Given the description of an element on the screen output the (x, y) to click on. 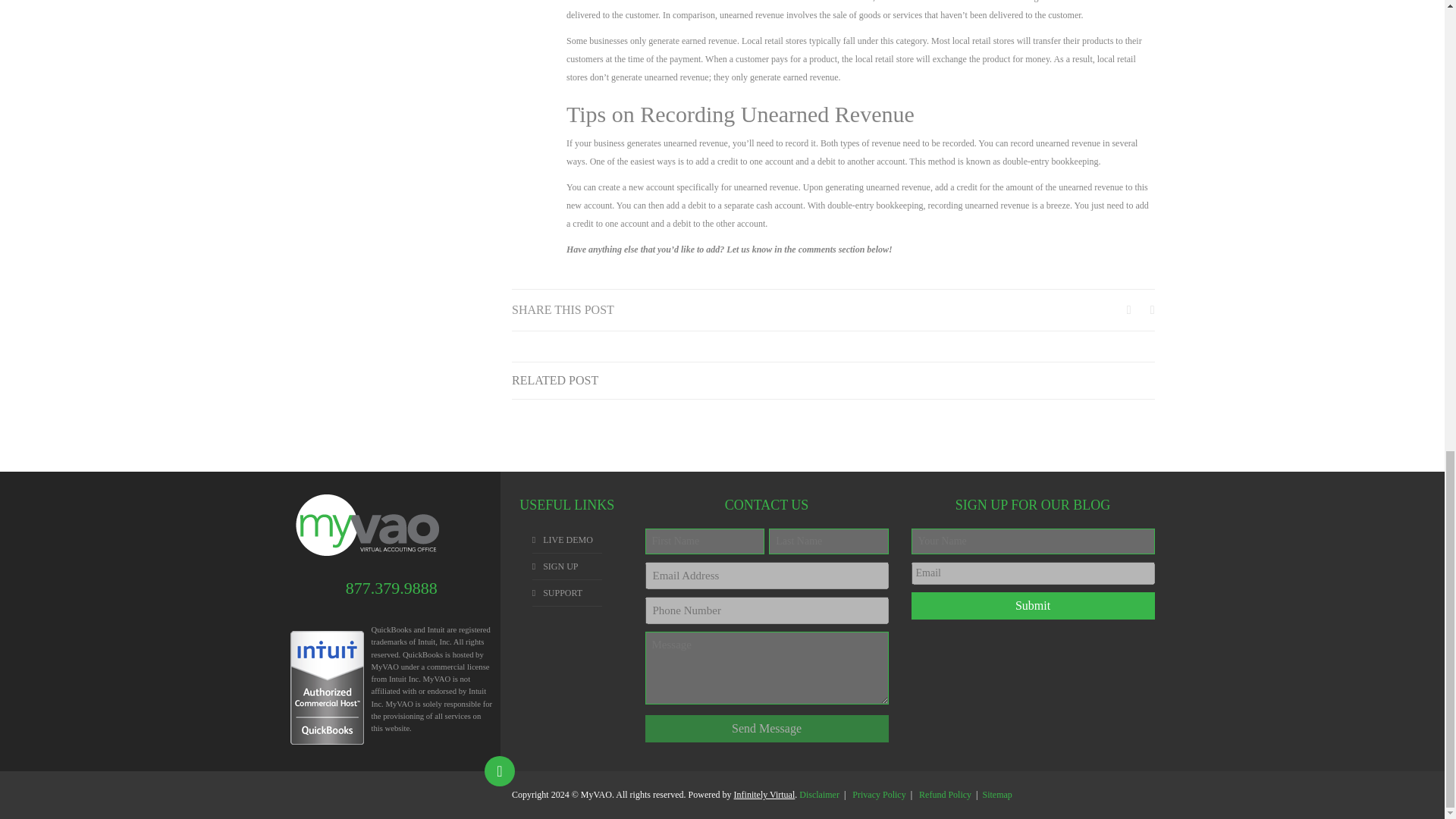
Disclaimer (819, 794)
Infinitely Virtual (763, 794)
Submit (1032, 605)
SIGN UP (560, 566)
Privacy Policy (878, 794)
Submit (1032, 605)
Back to top (499, 770)
Refund Policy (944, 794)
Sitemap (996, 794)
SUPPORT (562, 593)
Intuit (397, 678)
877.379.9888 (392, 587)
Send Message (766, 728)
Send Message (766, 728)
LIVE DEMO (567, 539)
